Given the description of an element on the screen output the (x, y) to click on. 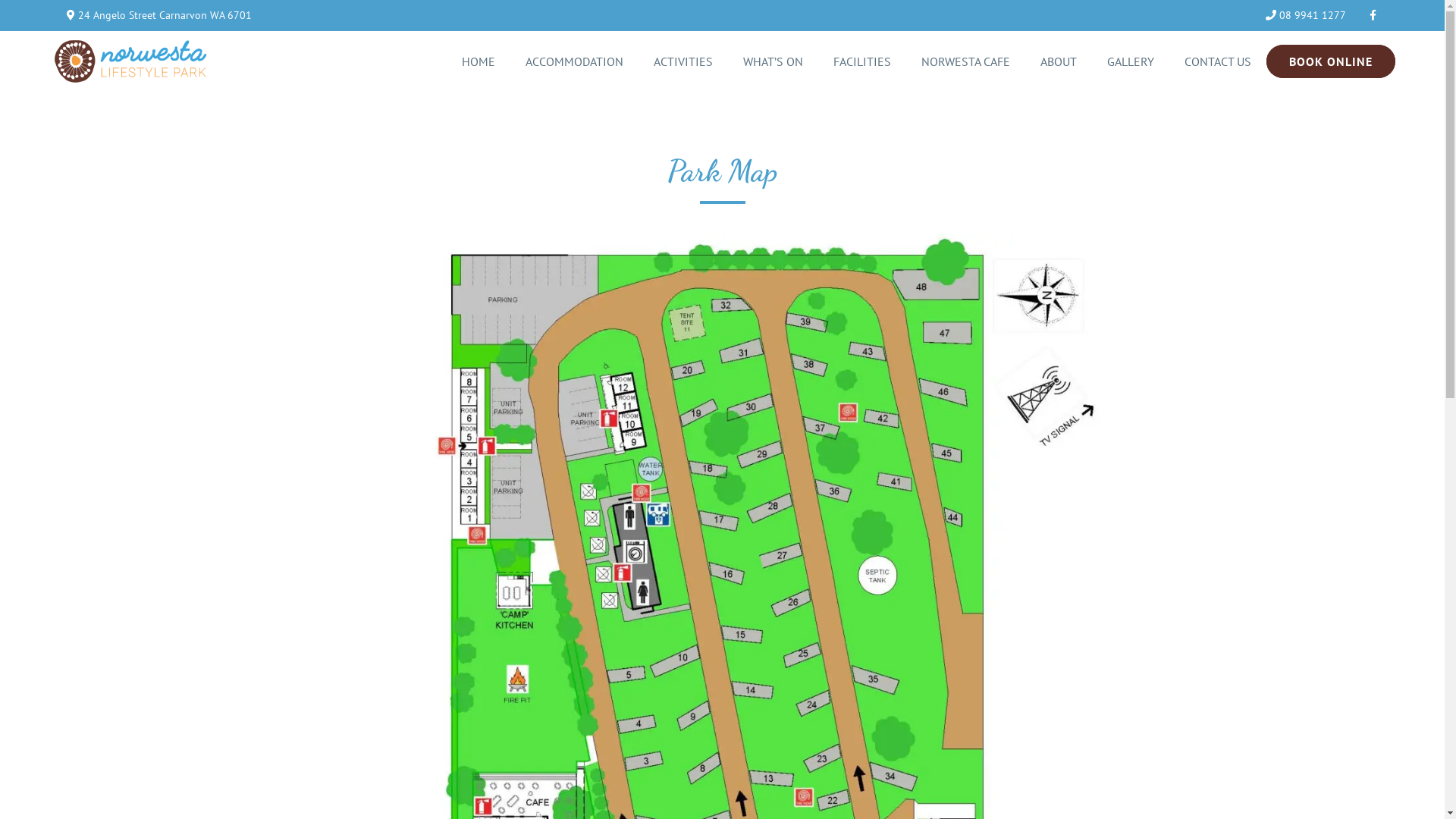
NORWESTA CAFE Element type: text (965, 61)
ACTIVITIES Element type: text (683, 61)
FACILITIES Element type: text (862, 61)
ACCOMMODATION Element type: text (574, 61)
GALLERY Element type: text (1130, 61)
08 9941 1277 Element type: text (1305, 15)
HOME Element type: text (478, 61)
BOOK ONLINE Element type: text (1330, 61)
CONTACT US Element type: text (1217, 61)
ABOUT Element type: text (1058, 61)
